Given the description of an element on the screen output the (x, y) to click on. 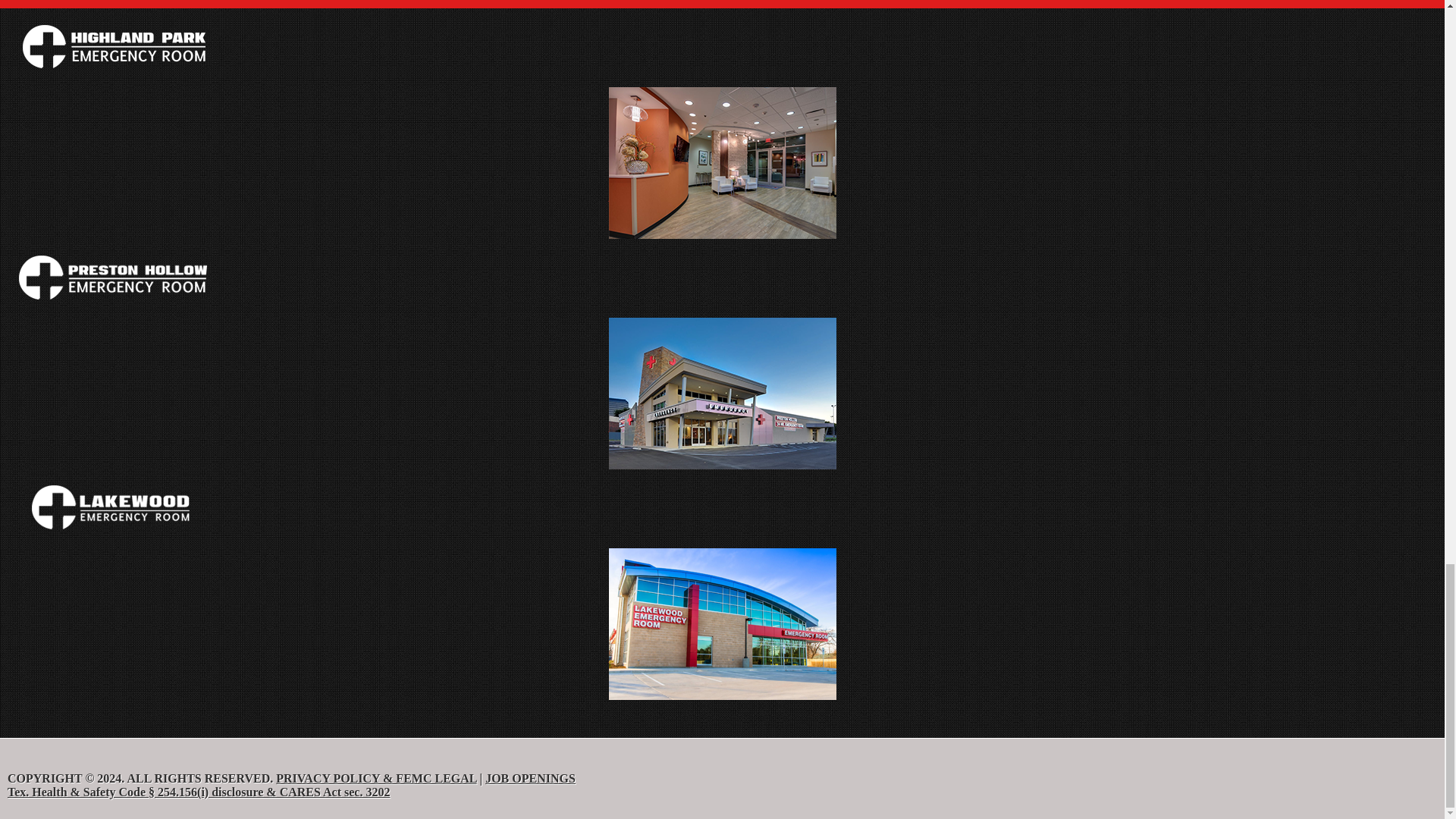
JOB OPENINGS (529, 778)
Call Now (631, 656)
View On Map (693, 426)
View On Map (693, 656)
Call Now (631, 426)
Call Now (631, 195)
View On Map (693, 195)
